Given the description of an element on the screen output the (x, y) to click on. 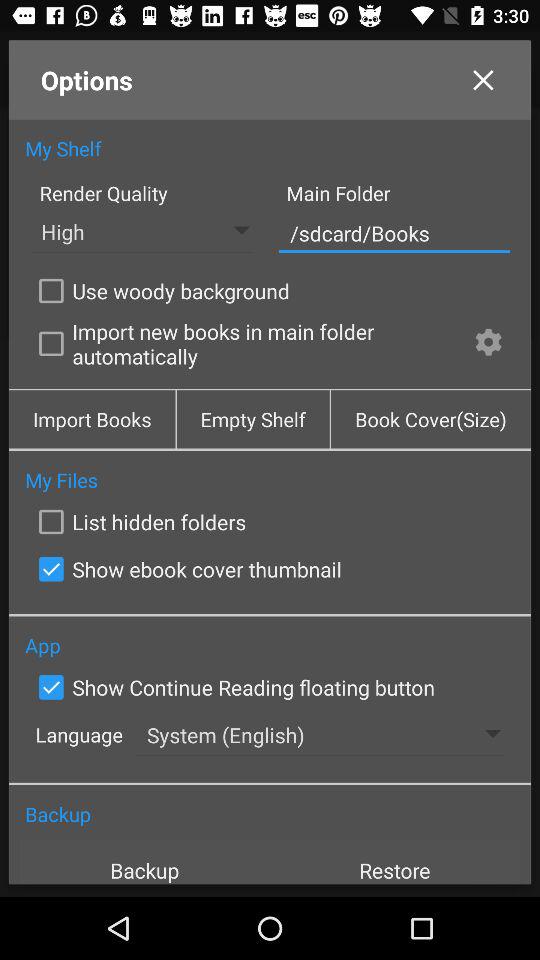
jump to the show ebook cover icon (185, 569)
